Given the description of an element on the screen output the (x, y) to click on. 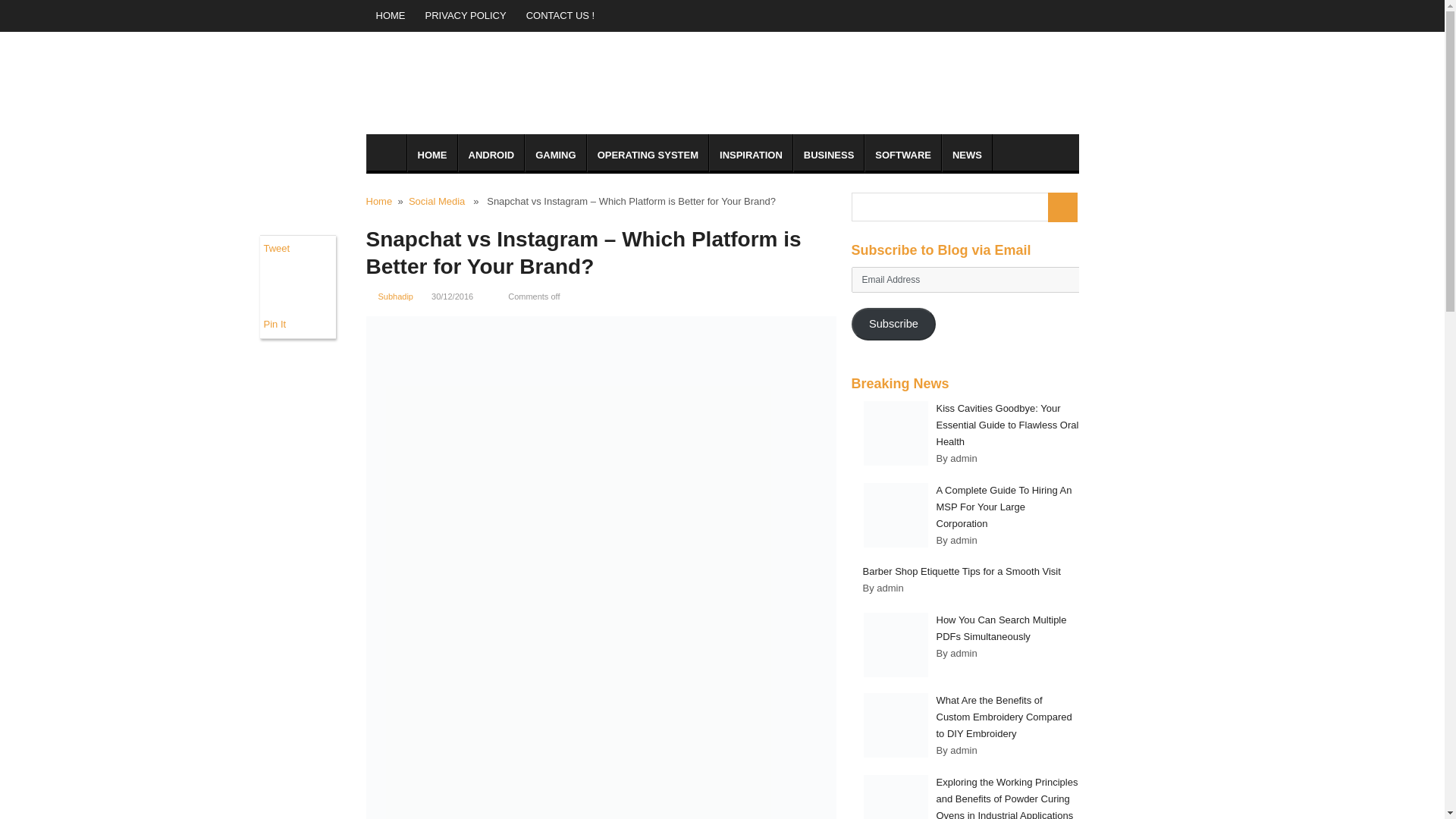
Posts by Subhadip (395, 296)
Search (1062, 206)
HOME (431, 153)
Barber Shop Etiquette Tips for a Smooth Visit (962, 571)
HOME (389, 15)
NEWS (967, 153)
INSPIRATION (751, 153)
Social Media (436, 201)
Search (1062, 206)
Subhadip (395, 296)
Tweet (276, 247)
GAMING (555, 153)
Subscribe (893, 324)
Pin It (274, 324)
